Given the description of an element on the screen output the (x, y) to click on. 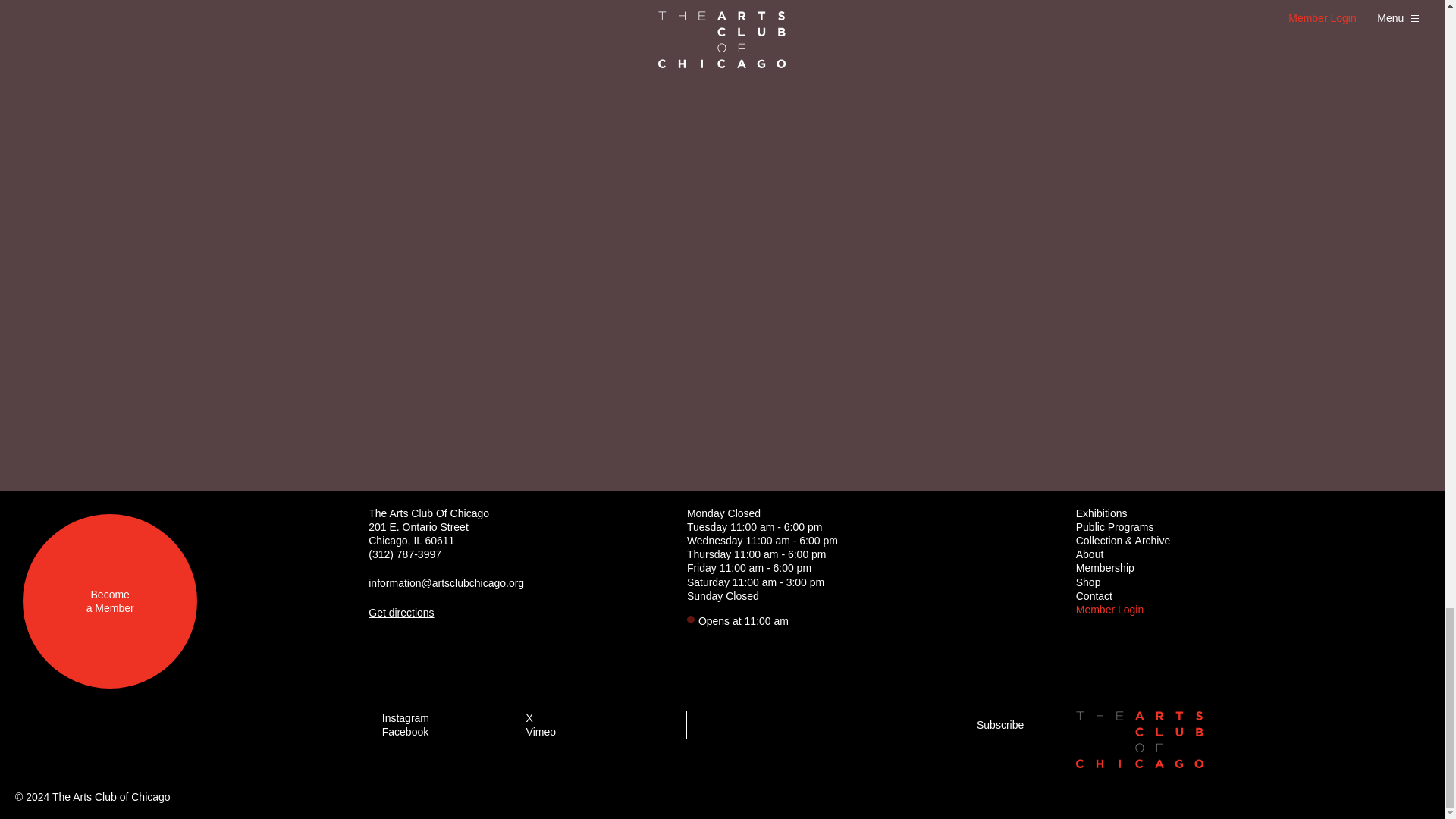
Exhibitions (1100, 512)
Contact (1093, 595)
Subscribe (999, 724)
About (1089, 553)
Subscribe (999, 724)
Membership (109, 601)
Public Programs (1104, 567)
